Given the description of an element on the screen output the (x, y) to click on. 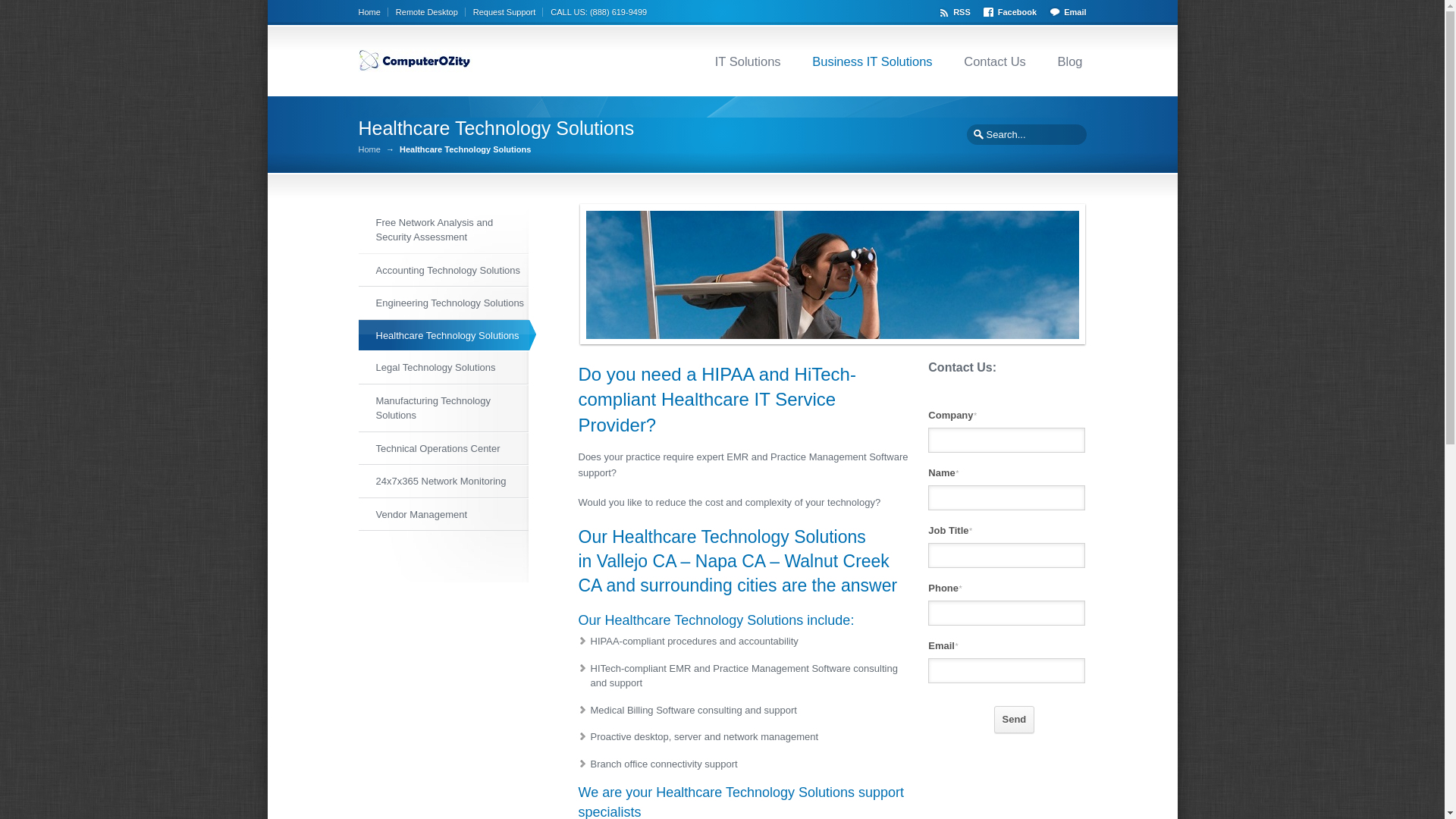
Remote Desktop (430, 11)
Email (1066, 10)
Home (372, 11)
IT Solutions (747, 60)
RSS (956, 10)
Send (1014, 718)
Request Support (508, 11)
Business IT Solutions (872, 60)
Search... (1024, 134)
Facebook (1012, 10)
